Given the description of an element on the screen output the (x, y) to click on. 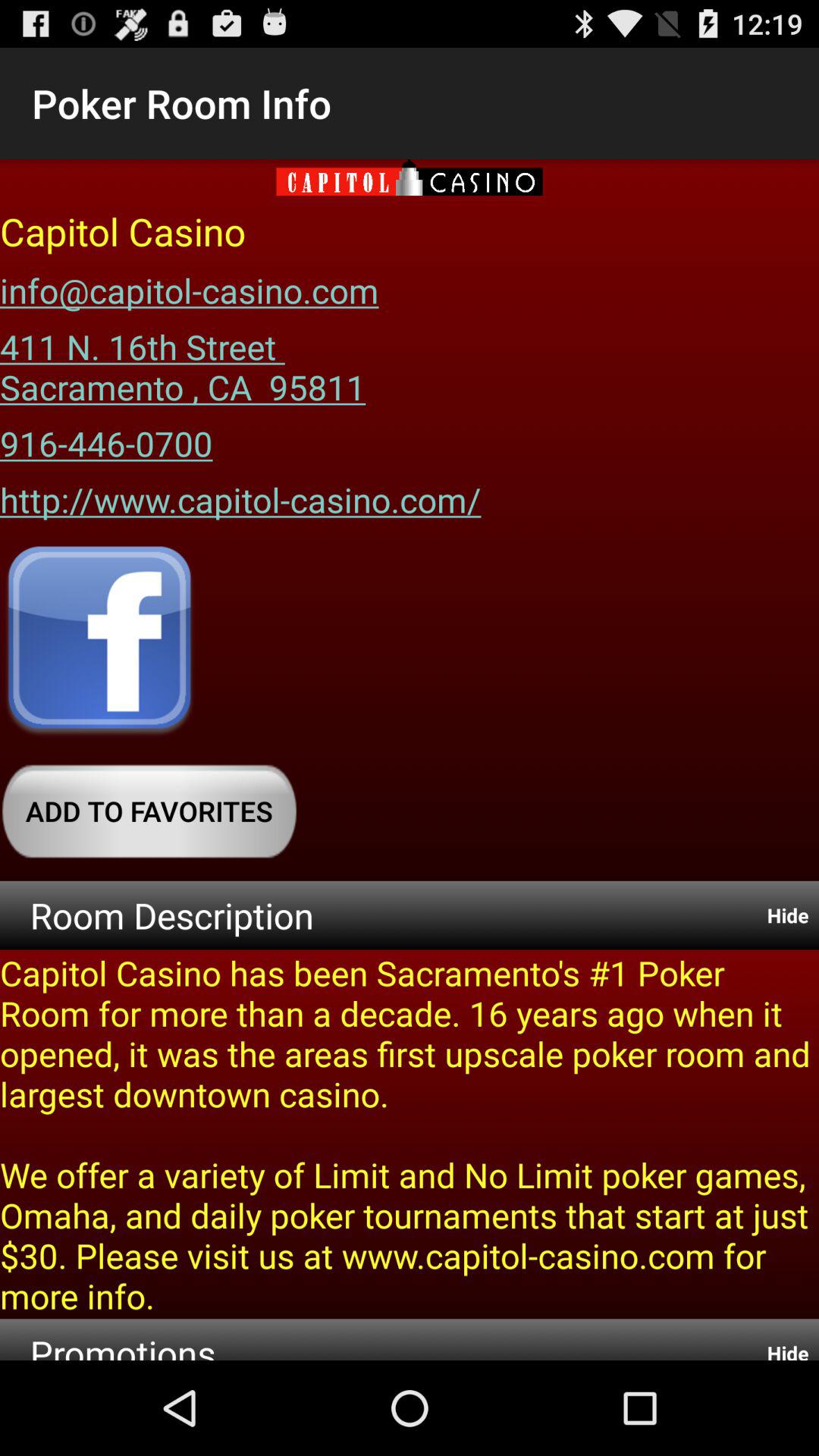
swipe until the http www capitol item (240, 494)
